Given the description of an element on the screen output the (x, y) to click on. 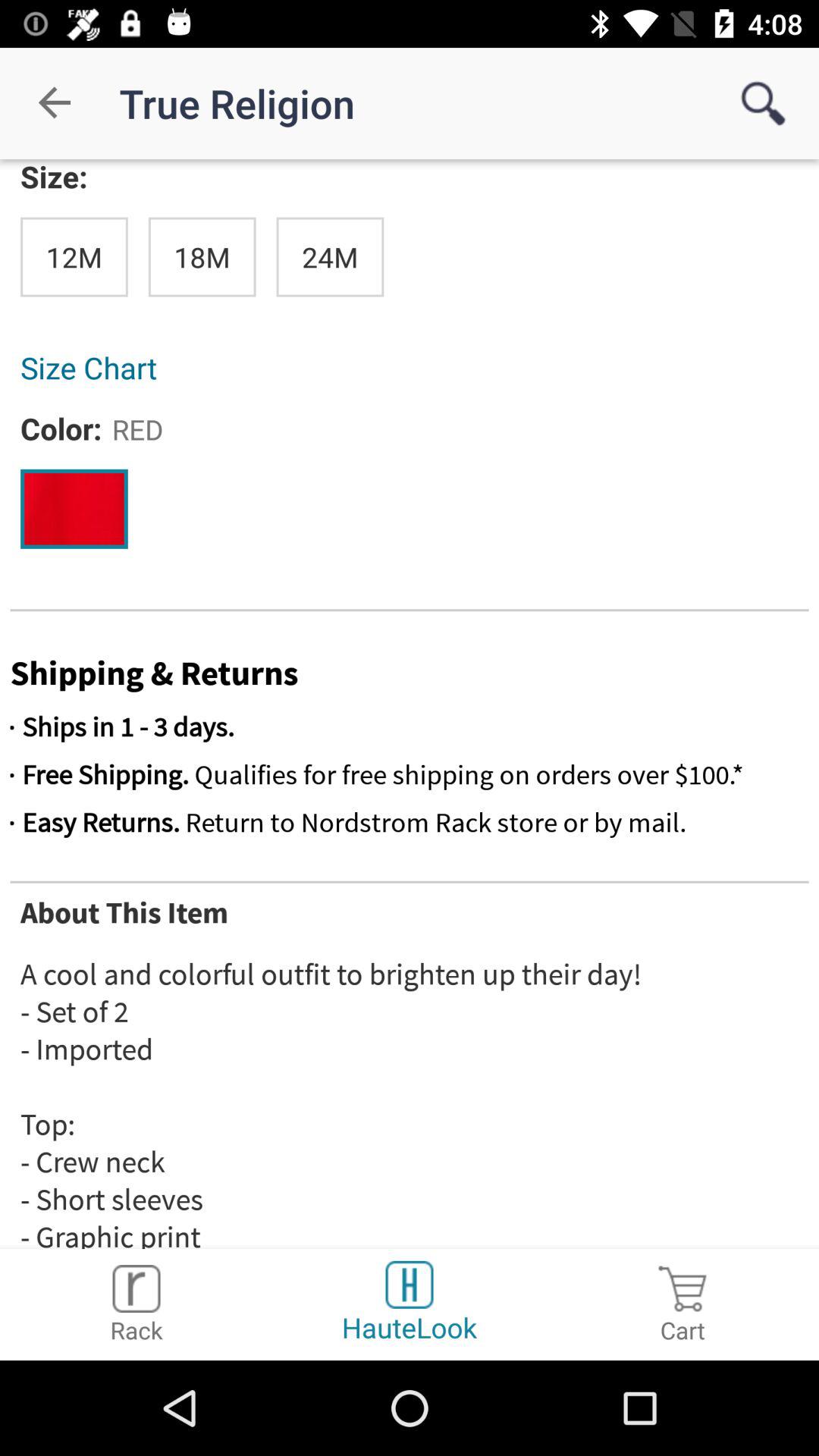
open the item above size: icon (55, 103)
